Given the description of an element on the screen output the (x, y) to click on. 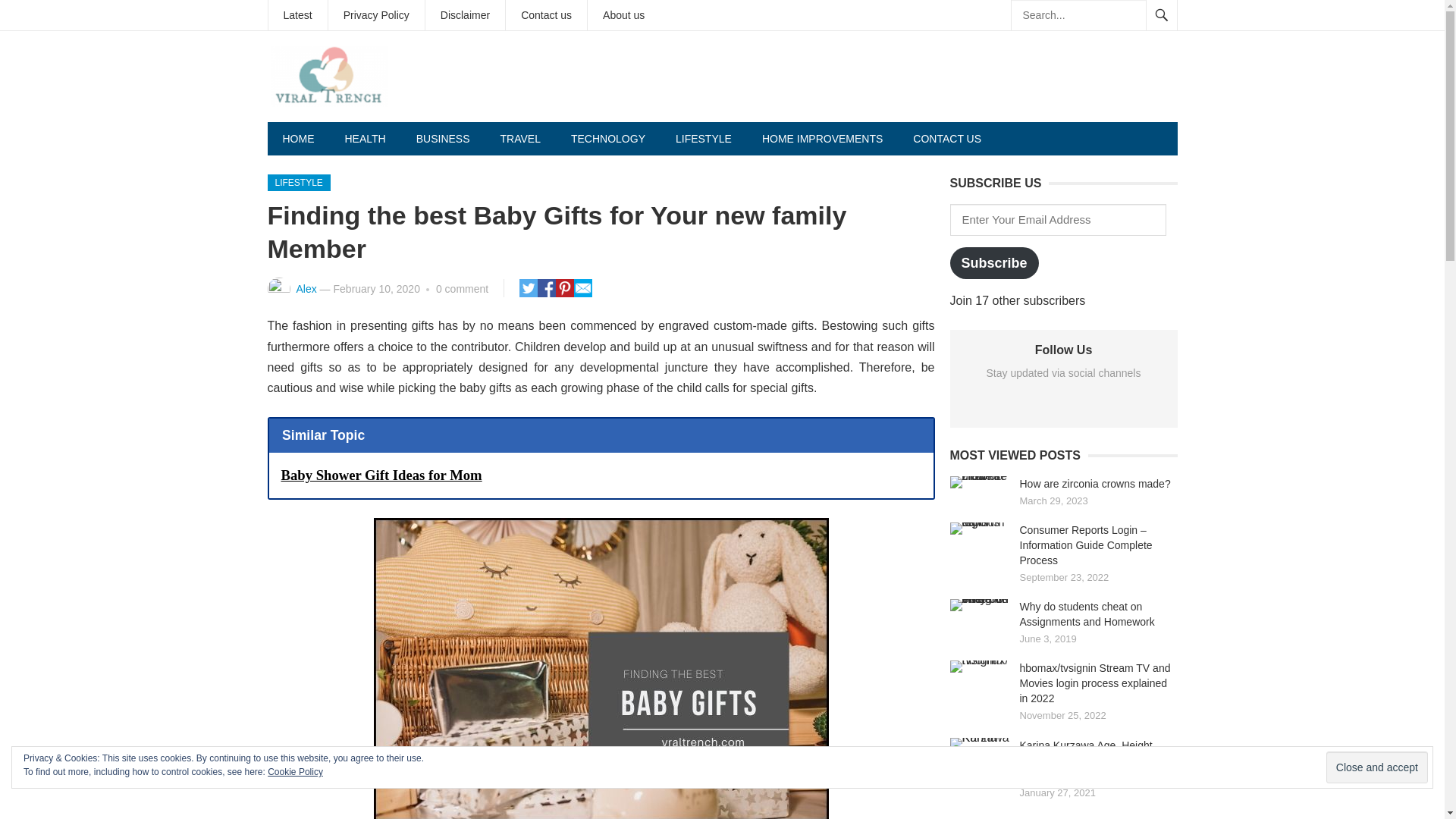
Latest (297, 15)
LIFESTYLE (703, 138)
HOME (297, 138)
TRAVEL (520, 138)
BUSINESS (442, 138)
Close and accept (1377, 766)
About us (623, 15)
Privacy Policy (377, 15)
Contact us (545, 15)
Disclaimer (465, 15)
